Given the description of an element on the screen output the (x, y) to click on. 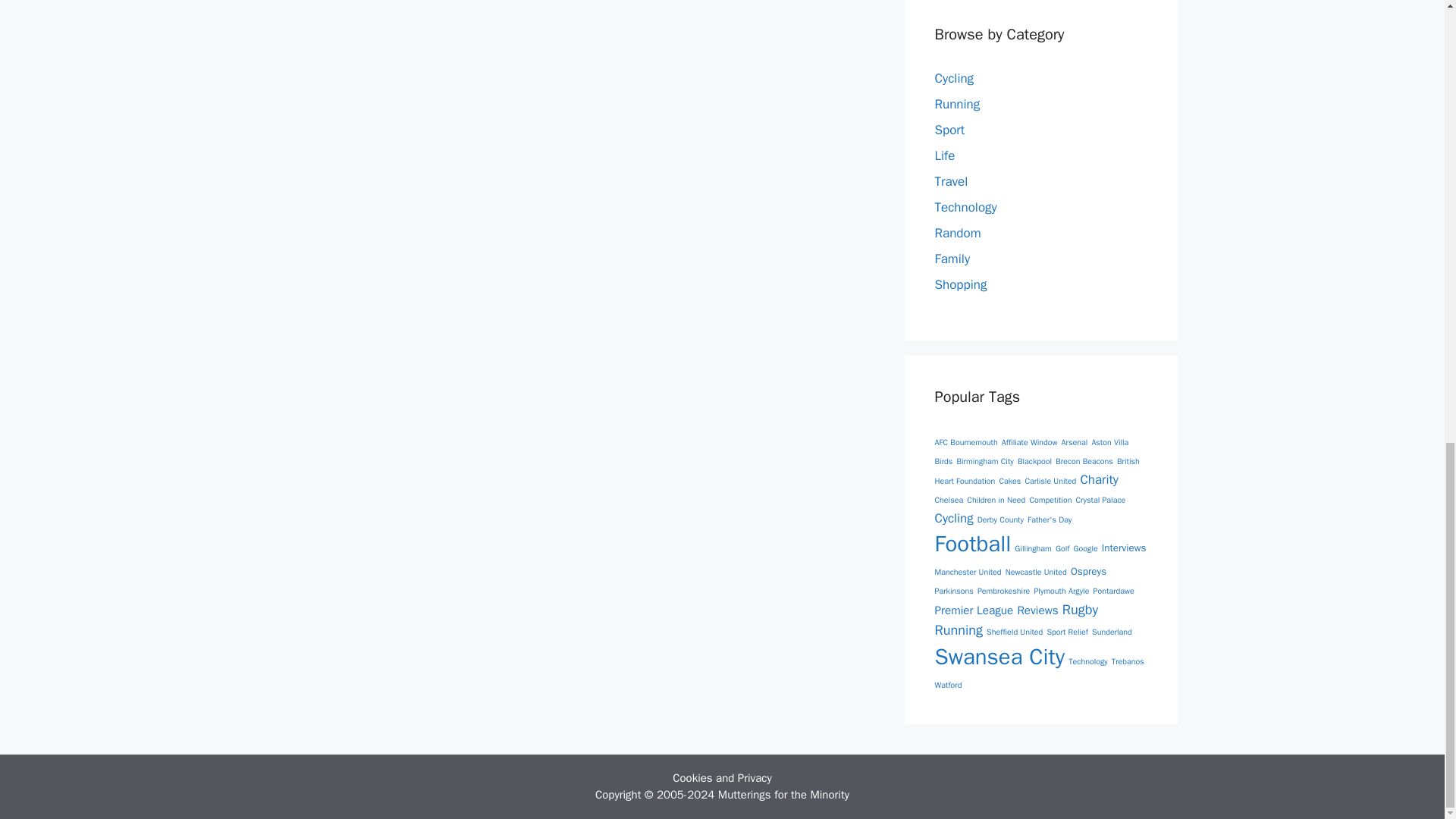
Life (944, 155)
Technology (964, 207)
Shopping (960, 284)
Travel (951, 181)
Family (951, 258)
Random (956, 232)
Sport (948, 130)
Running (956, 104)
Cycling (954, 78)
